Given the description of an element on the screen output the (x, y) to click on. 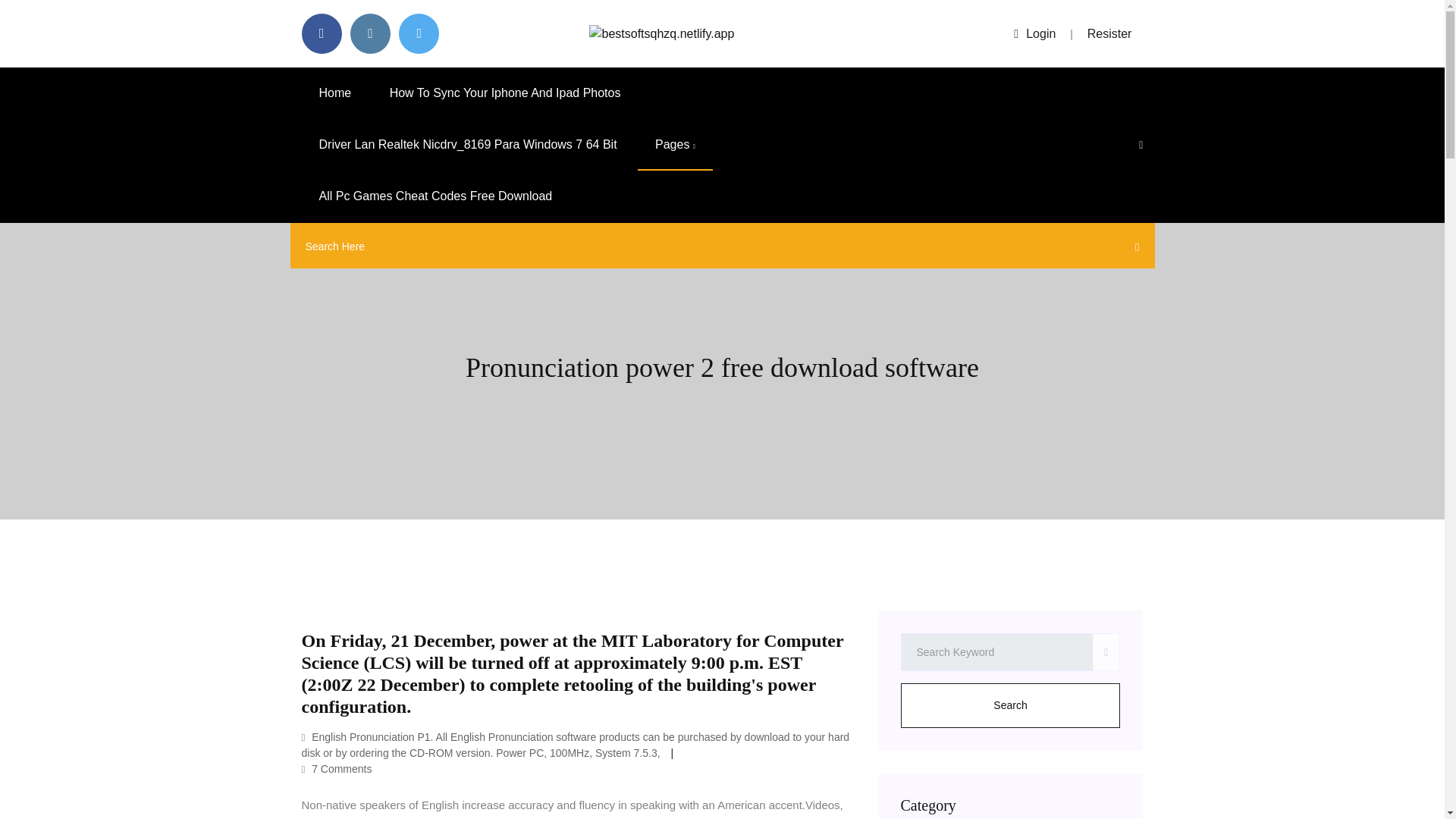
7 Comments (336, 768)
Resister (1109, 33)
All Pc Games Cheat Codes Free Download (435, 195)
Home (335, 92)
Login (1034, 33)
Pages (675, 144)
How To Sync Your Iphone And Ipad Photos (505, 92)
